Given the description of an element on the screen output the (x, y) to click on. 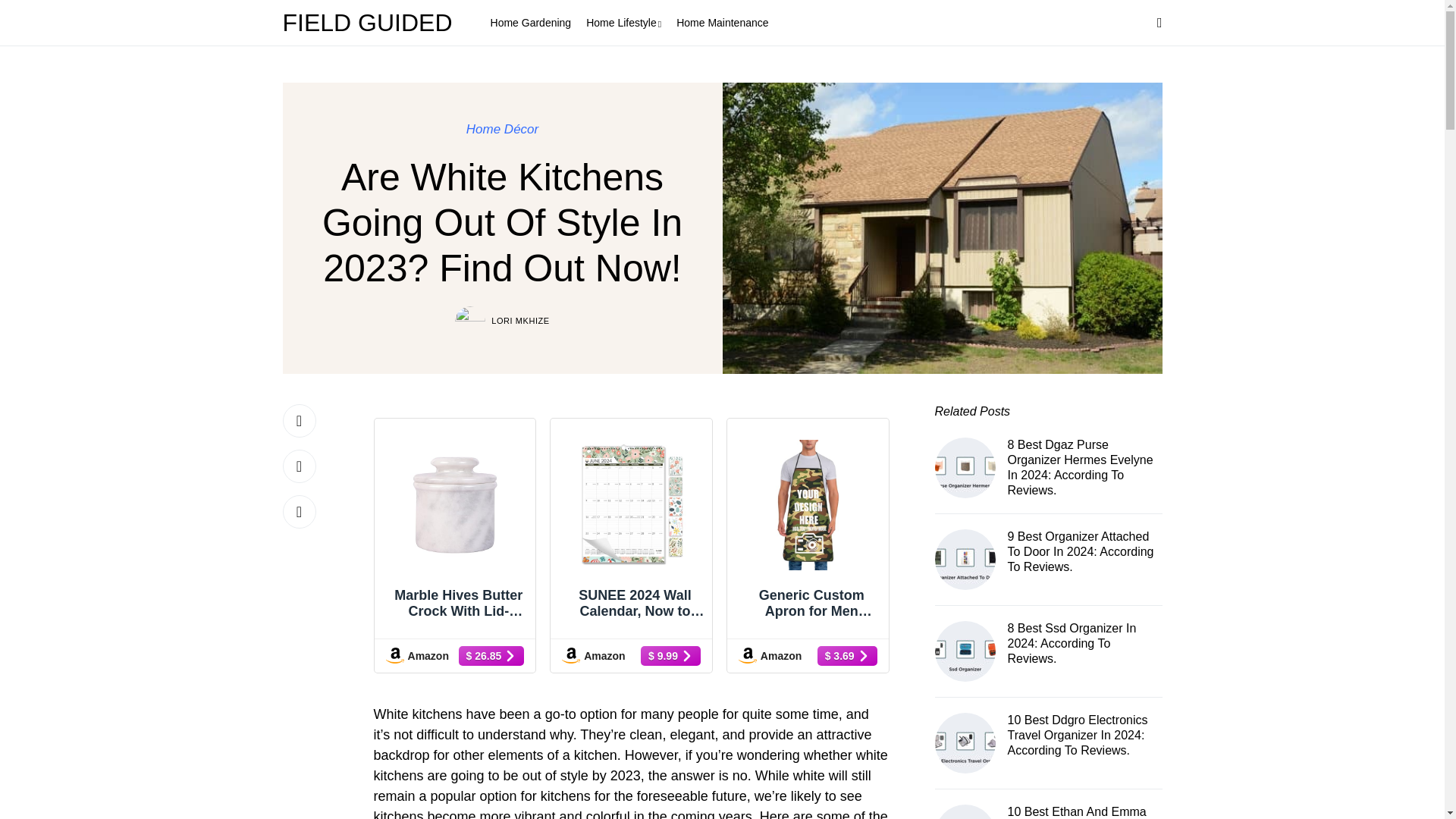
FIELD GUIDED (371, 22)
Home Maintenance (722, 22)
Home Lifestyle (623, 22)
Home Gardening (531, 22)
